Given the description of an element on the screen output the (x, y) to click on. 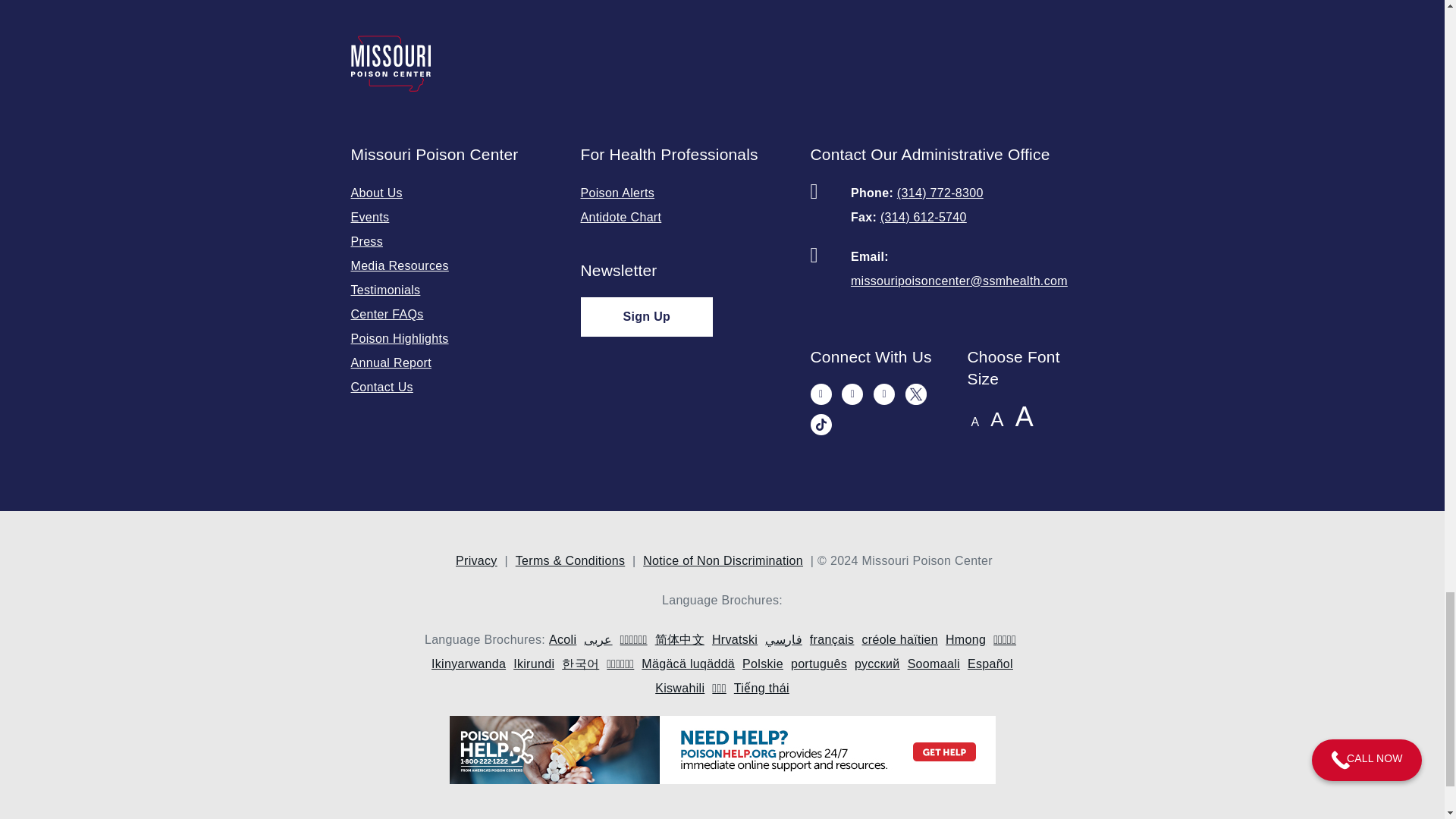
PoisonHelp.org banner (721, 753)
